Given the description of an element on the screen output the (x, y) to click on. 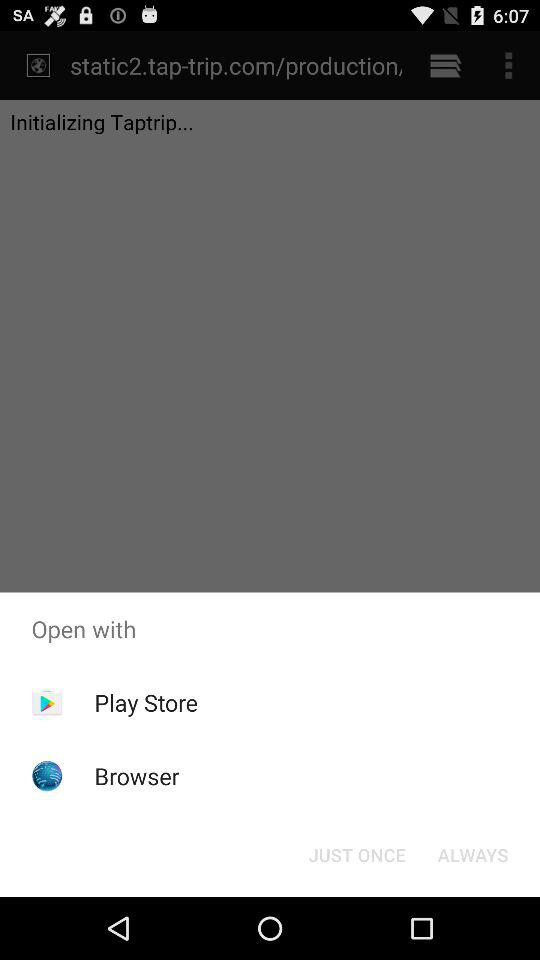
launch icon below open with item (356, 854)
